Given the description of an element on the screen output the (x, y) to click on. 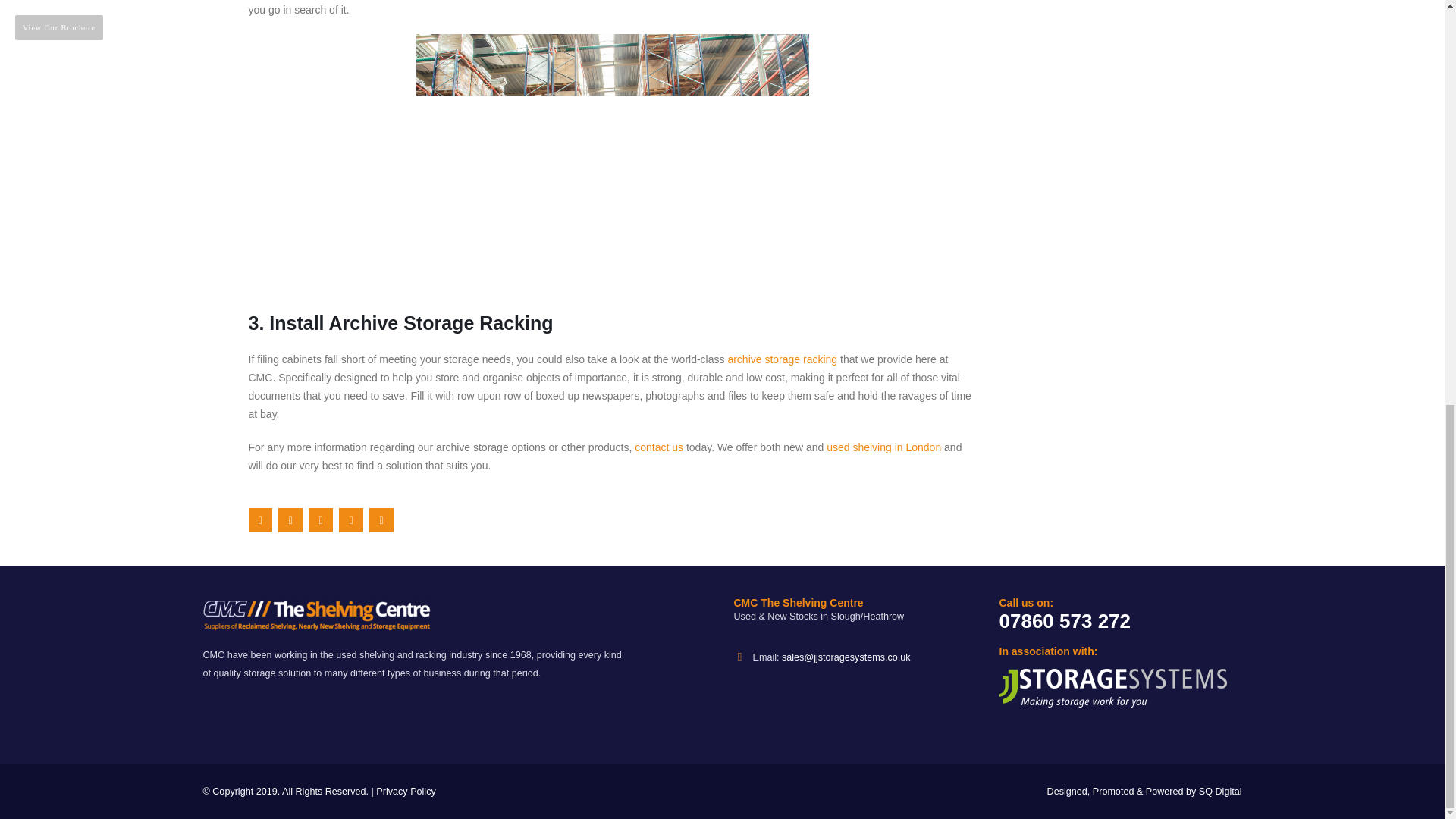
LinkedIn (320, 519)
Facebook (260, 519)
Facebook (260, 519)
Email (381, 519)
archive storage racking (781, 358)
LinkedIn (320, 519)
contact us (658, 447)
Twitter (290, 519)
used shelving in London (883, 447)
Twitter (290, 519)
